Given the description of an element on the screen output the (x, y) to click on. 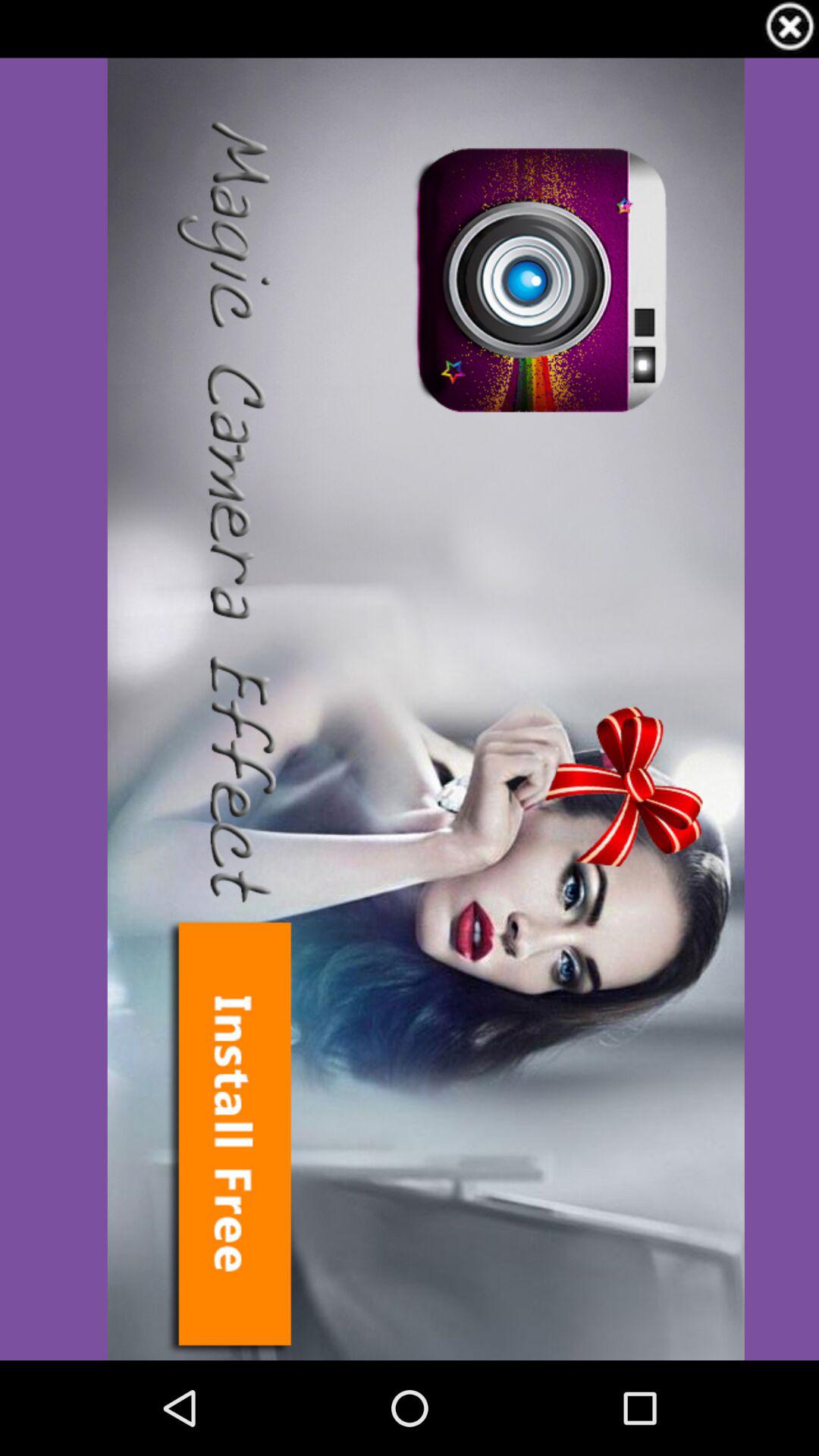
to close tab (789, 29)
